Given the description of an element on the screen output the (x, y) to click on. 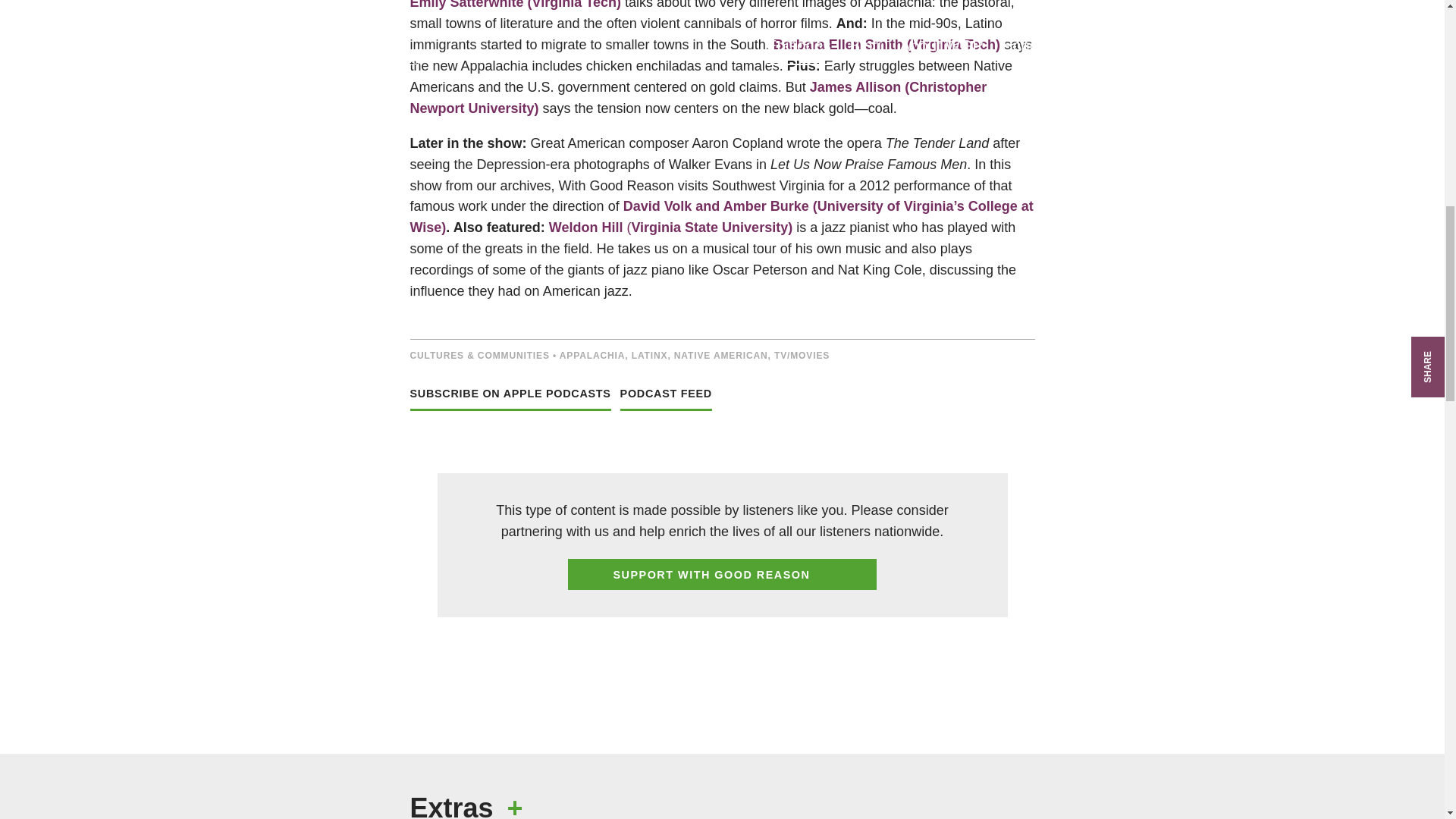
LATINX (649, 355)
NATIVE AMERICAN (721, 355)
SUPPORT WITH GOOD REASON (721, 573)
SUBSCRIBE ON APPLE PODCASTS (509, 401)
APPALACHIA (592, 355)
PODCAST FEED (665, 401)
